Given the description of an element on the screen output the (x, y) to click on. 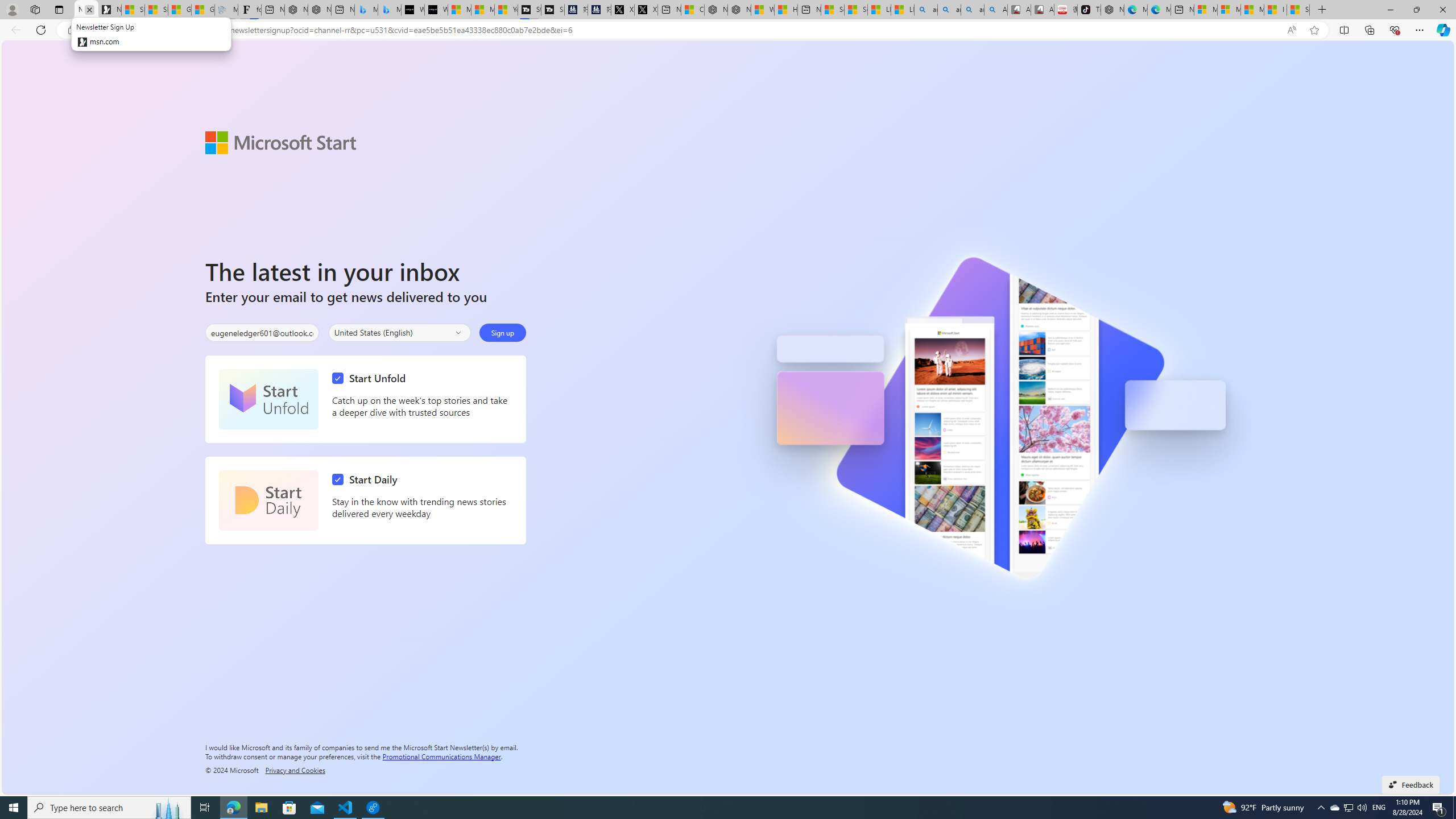
Sign up (502, 332)
TikTok (1089, 9)
Enter your email (261, 332)
I Gained 20 Pounds of Muscle in 30 Days! | Watch (1275, 9)
Promotional Communications Manager (440, 755)
